Given the description of an element on the screen output the (x, y) to click on. 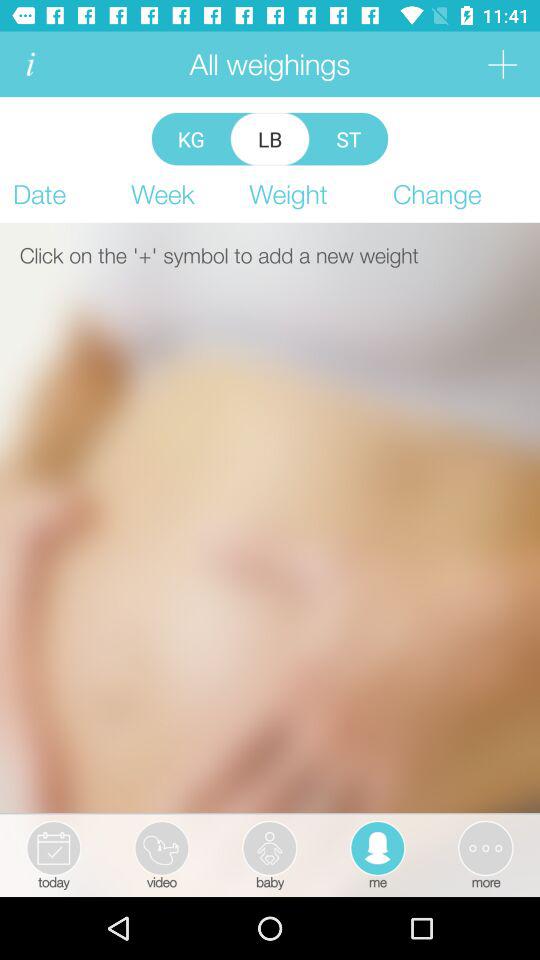
press icon next to kg radio button (269, 138)
